Given the description of an element on the screen output the (x, y) to click on. 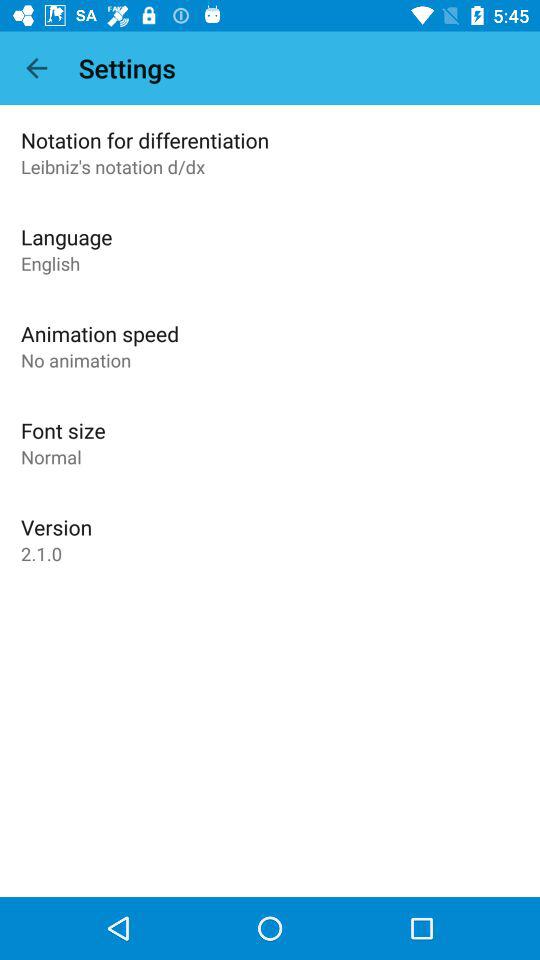
press the animation speed item (100, 333)
